Given the description of an element on the screen output the (x, y) to click on. 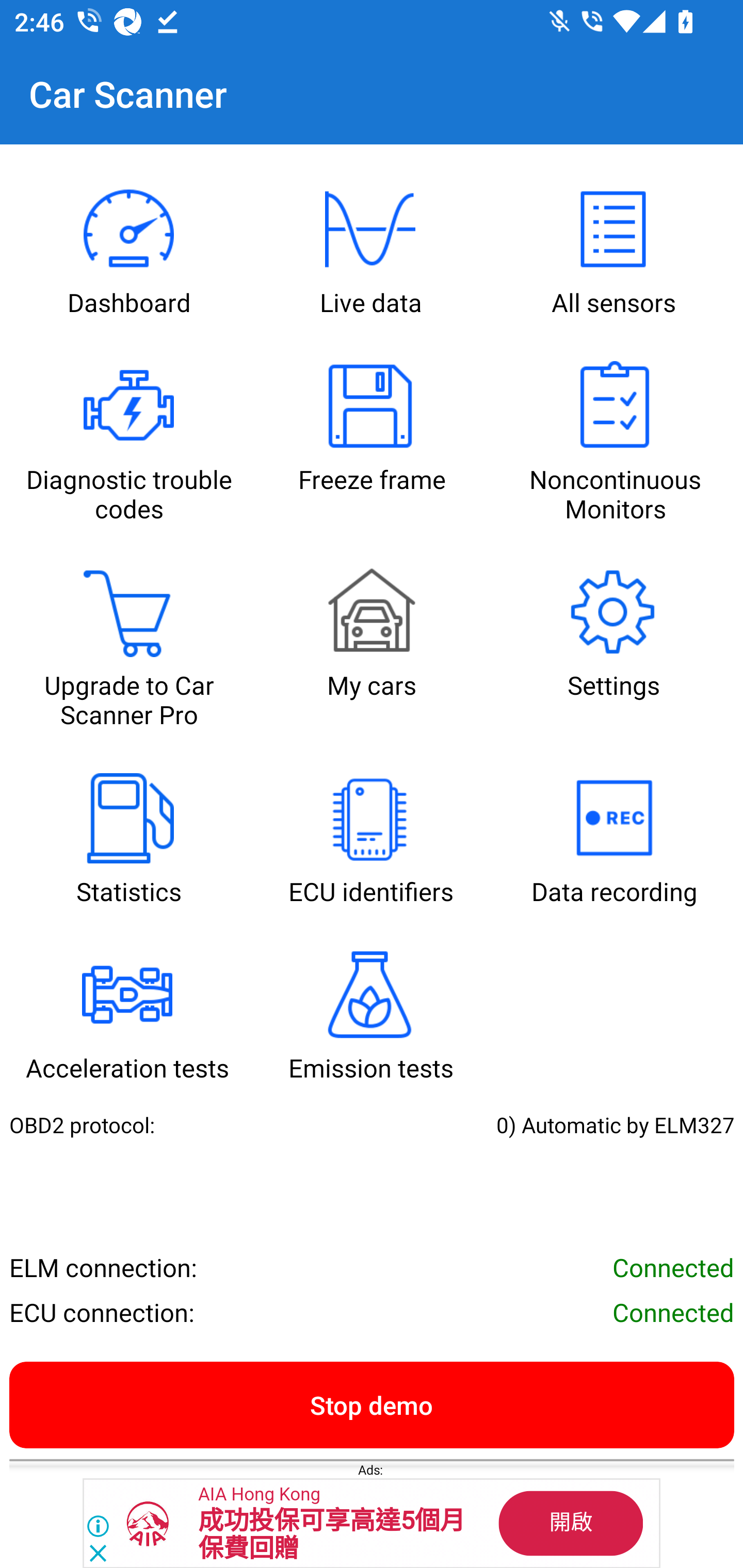
Stop demo (371, 1404)
